Given the description of an element on the screen output the (x, y) to click on. 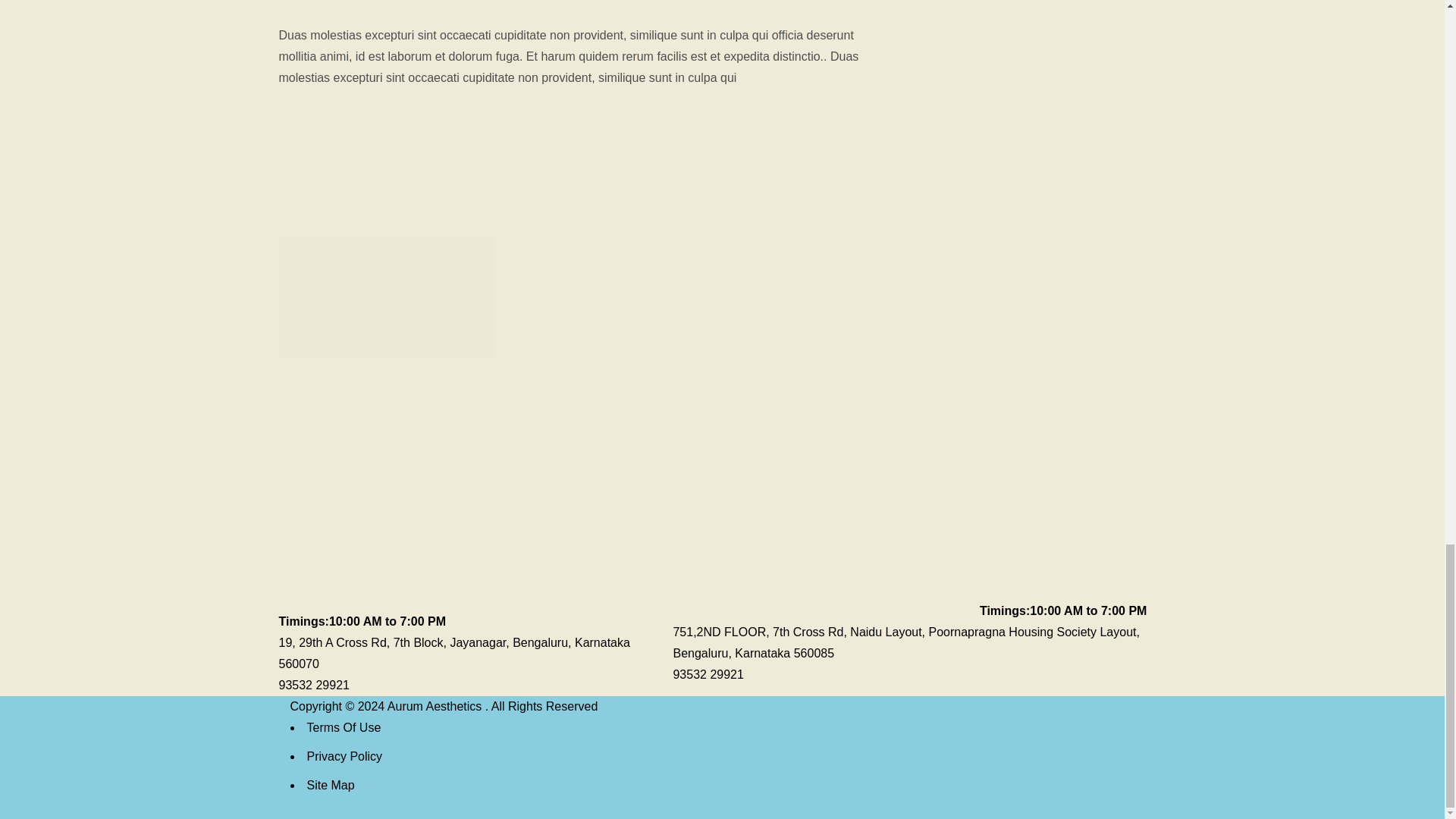
Terms Of Use (342, 727)
Site Map (329, 784)
Aurum Aesthetics (435, 706)
Privacy Policy (343, 756)
